Given the description of an element on the screen output the (x, y) to click on. 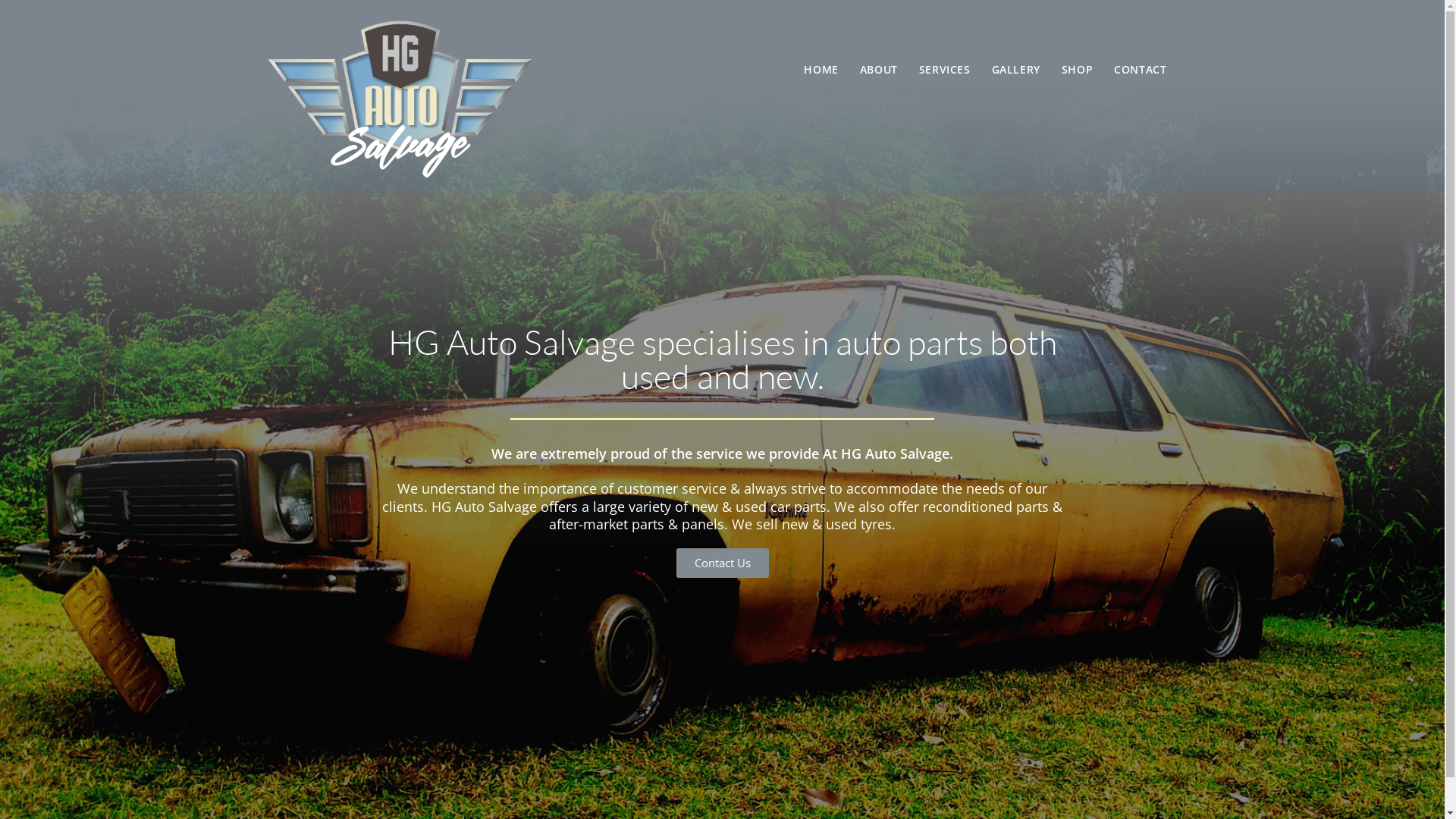
SERVICES Element type: text (944, 69)
Contact Us Element type: text (722, 562)
SHOP Element type: text (1077, 69)
ABOUT Element type: text (878, 69)
GALLERY Element type: text (1016, 69)
CONTACT Element type: text (1139, 69)
HOME Element type: text (820, 69)
